Given the description of an element on the screen output the (x, y) to click on. 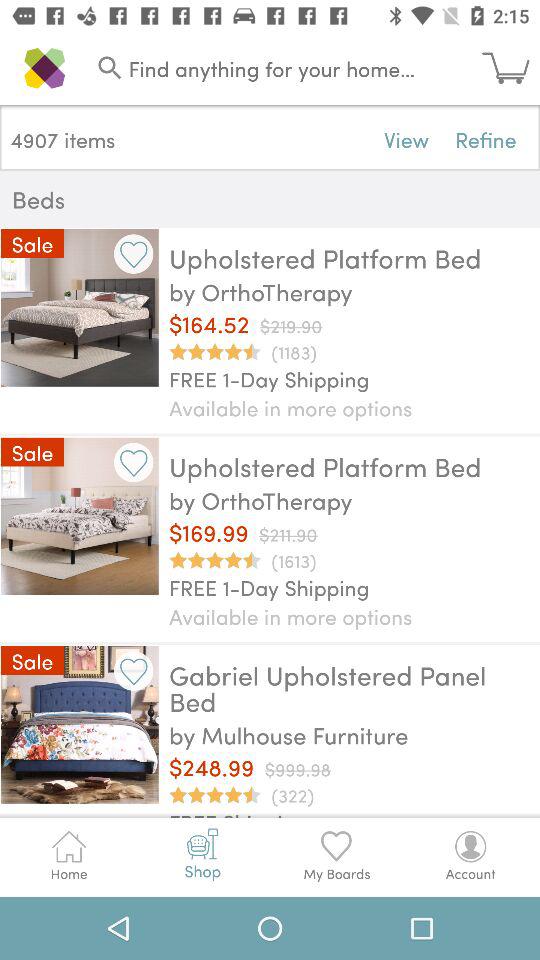
save the product (133, 670)
